Given the description of an element on the screen output the (x, y) to click on. 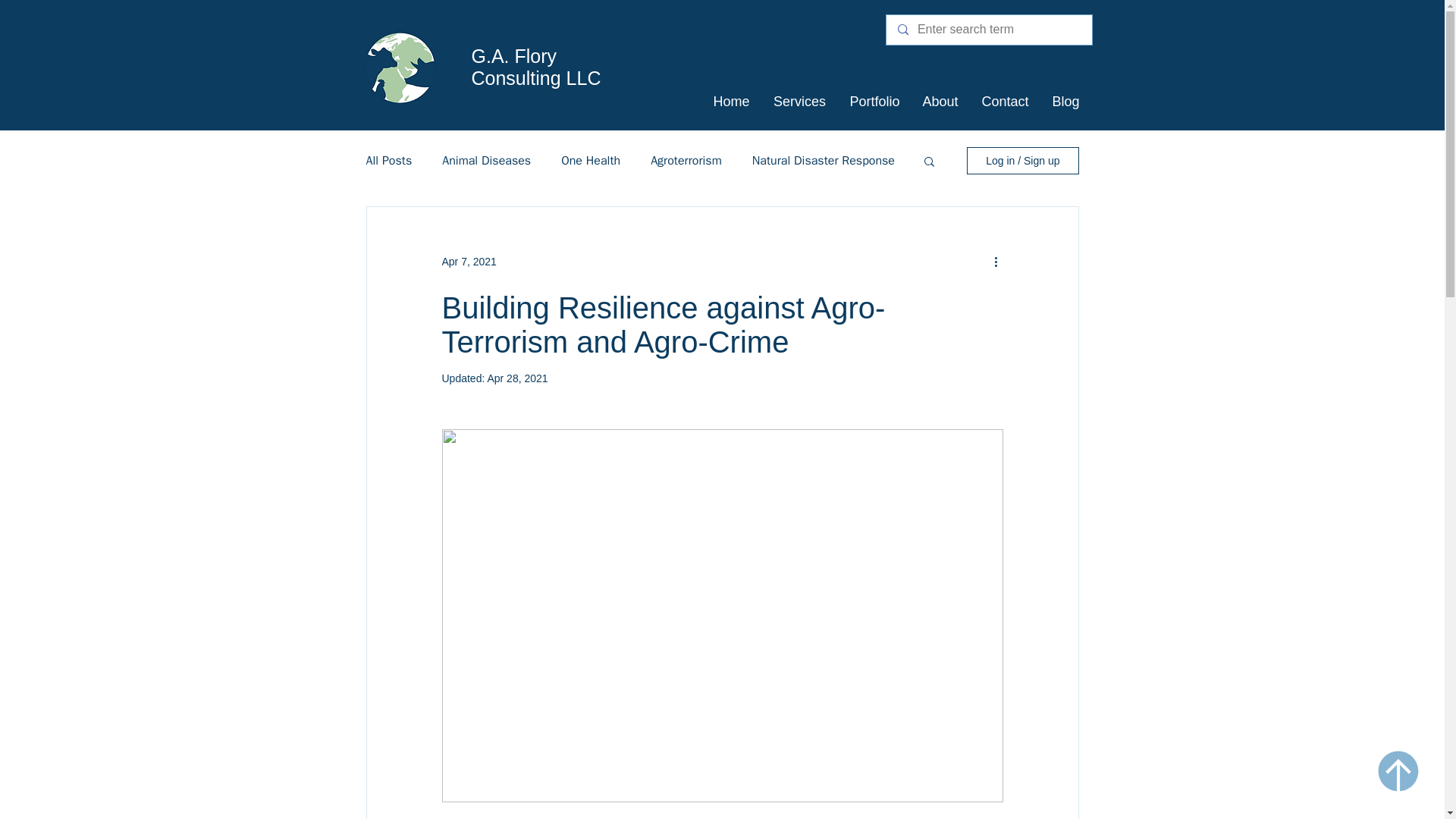
Apr 28, 2021 (516, 378)
Services (799, 100)
Home (731, 100)
Animal Diseases (486, 160)
About (940, 100)
Agroterrorism (686, 160)
One Health (590, 160)
All Posts (388, 160)
Blog (1065, 100)
Portfolio (874, 100)
